Given the description of an element on the screen output the (x, y) to click on. 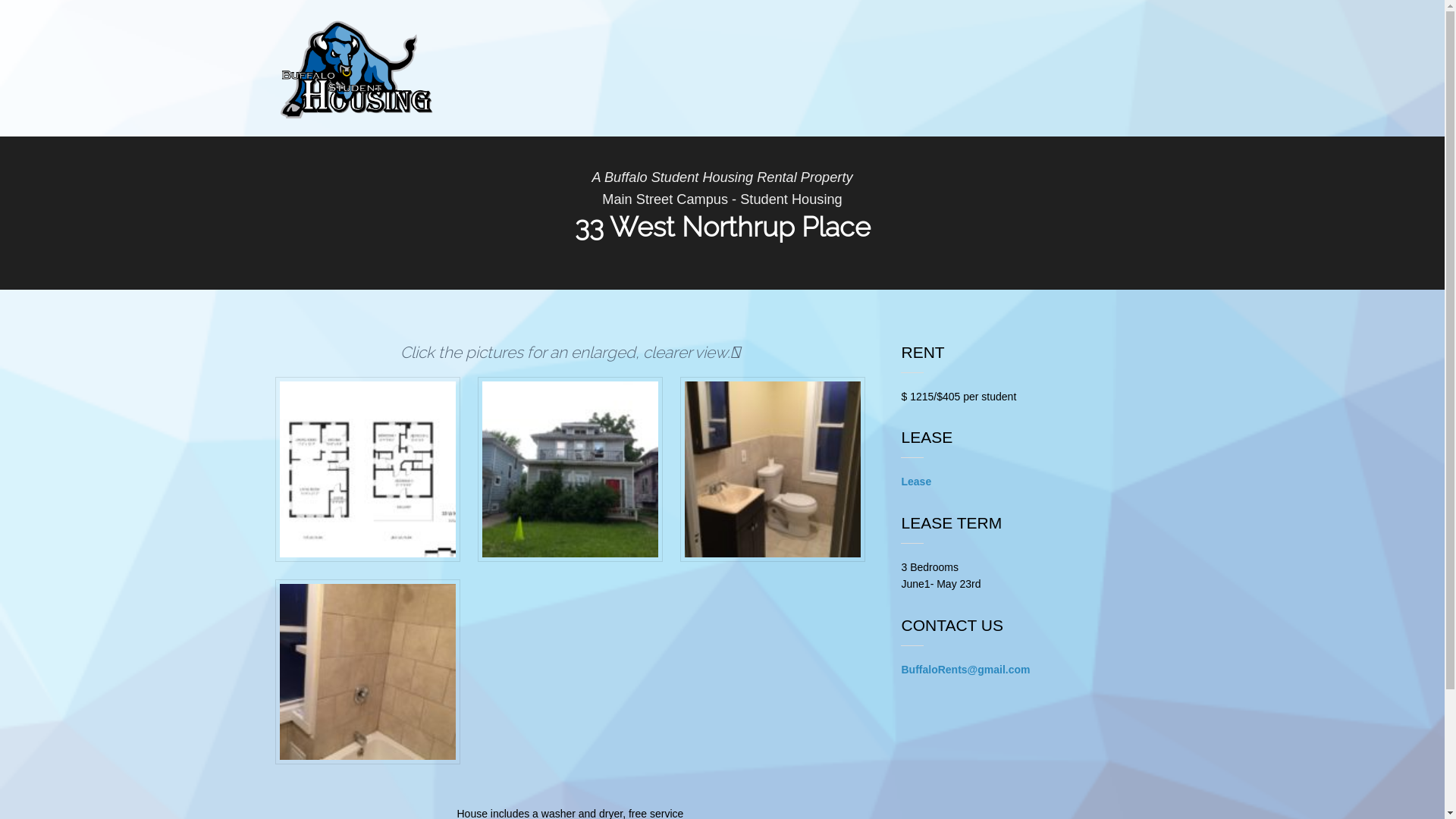
BuffaloRents@gmail.com Element type: text (964, 669)
Lease Element type: text (915, 481)
